Given the description of an element on the screen output the (x, y) to click on. 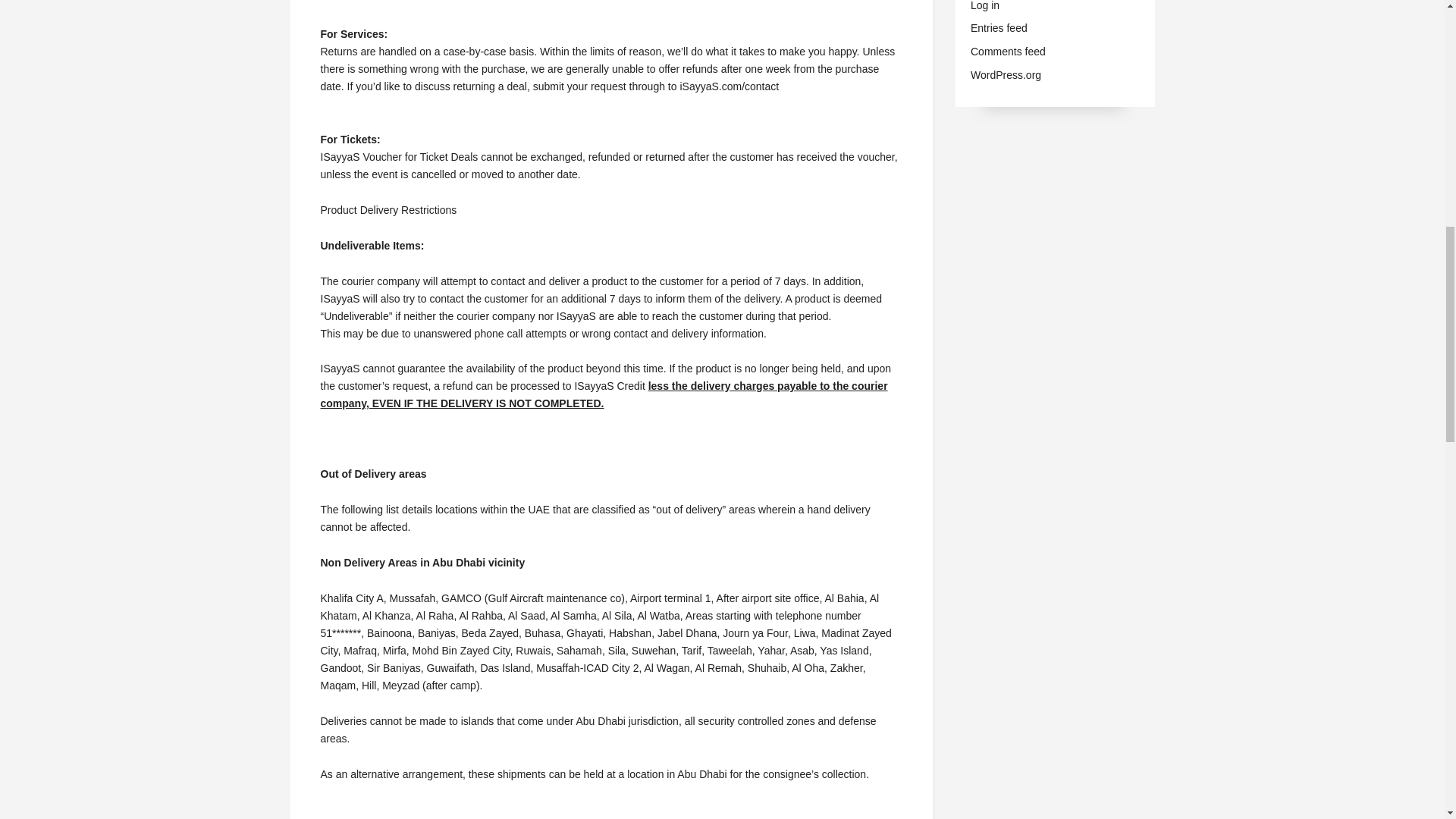
Entries feed (999, 28)
Comments feed (1008, 51)
Log in (984, 5)
